Given the description of an element on the screen output the (x, y) to click on. 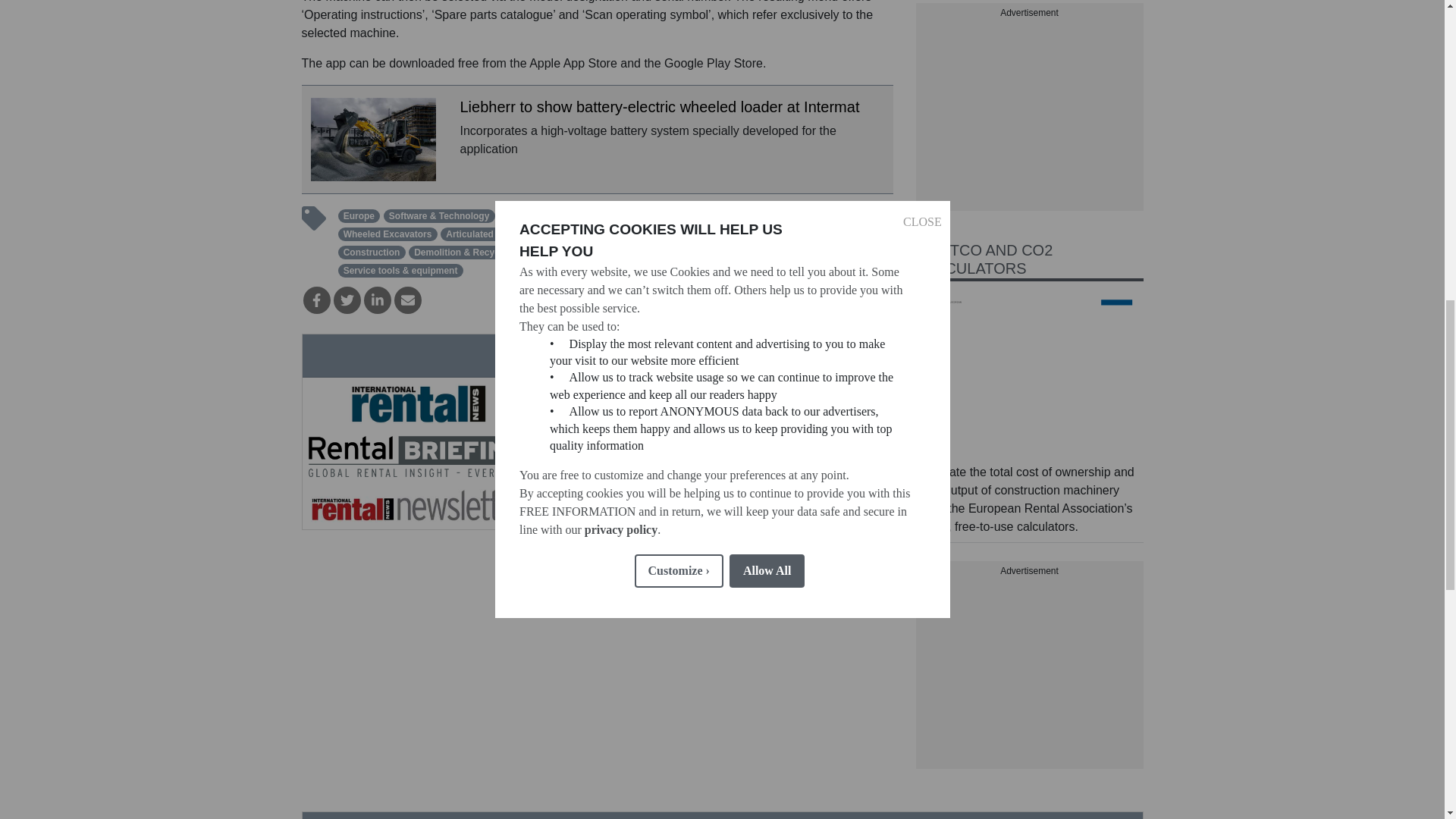
Share this page on Linkedin (377, 299)
privacy policy (619, 197)
Share this page on Facebook (316, 299)
Share this page via email (408, 299)
3rd party ad content (1028, 115)
Allow All (767, 151)
3rd party ad content (1028, 674)
Share this page on Twitter (347, 299)
